Given the description of an element on the screen output the (x, y) to click on. 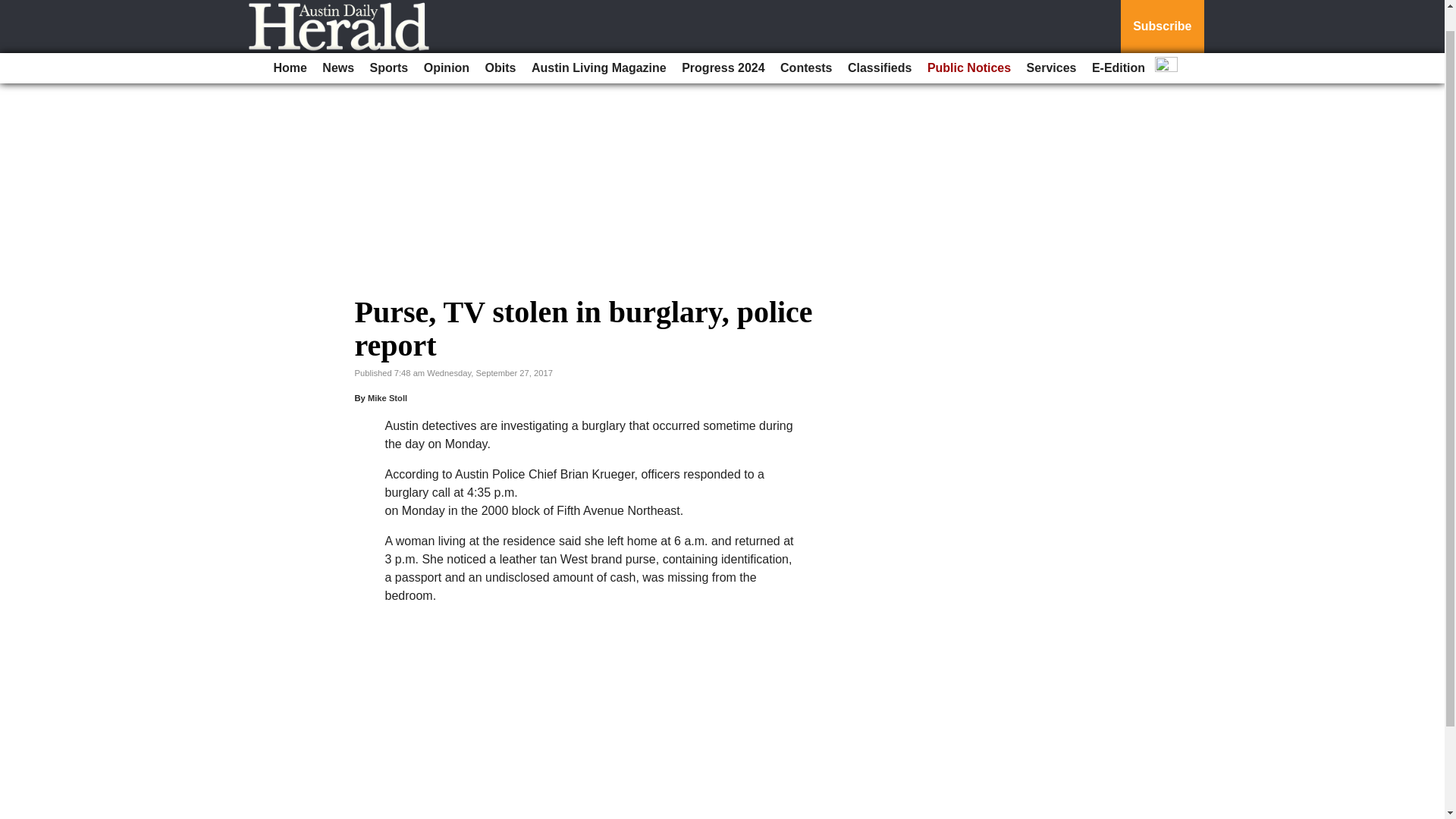
Opinion (446, 44)
Services (1051, 44)
Home (289, 44)
Public Notices (968, 44)
News (337, 44)
Sports (389, 44)
Progress 2024 (722, 44)
Subscribe (1162, 14)
Contests (806, 44)
Classifieds (879, 44)
